Given the description of an element on the screen output the (x, y) to click on. 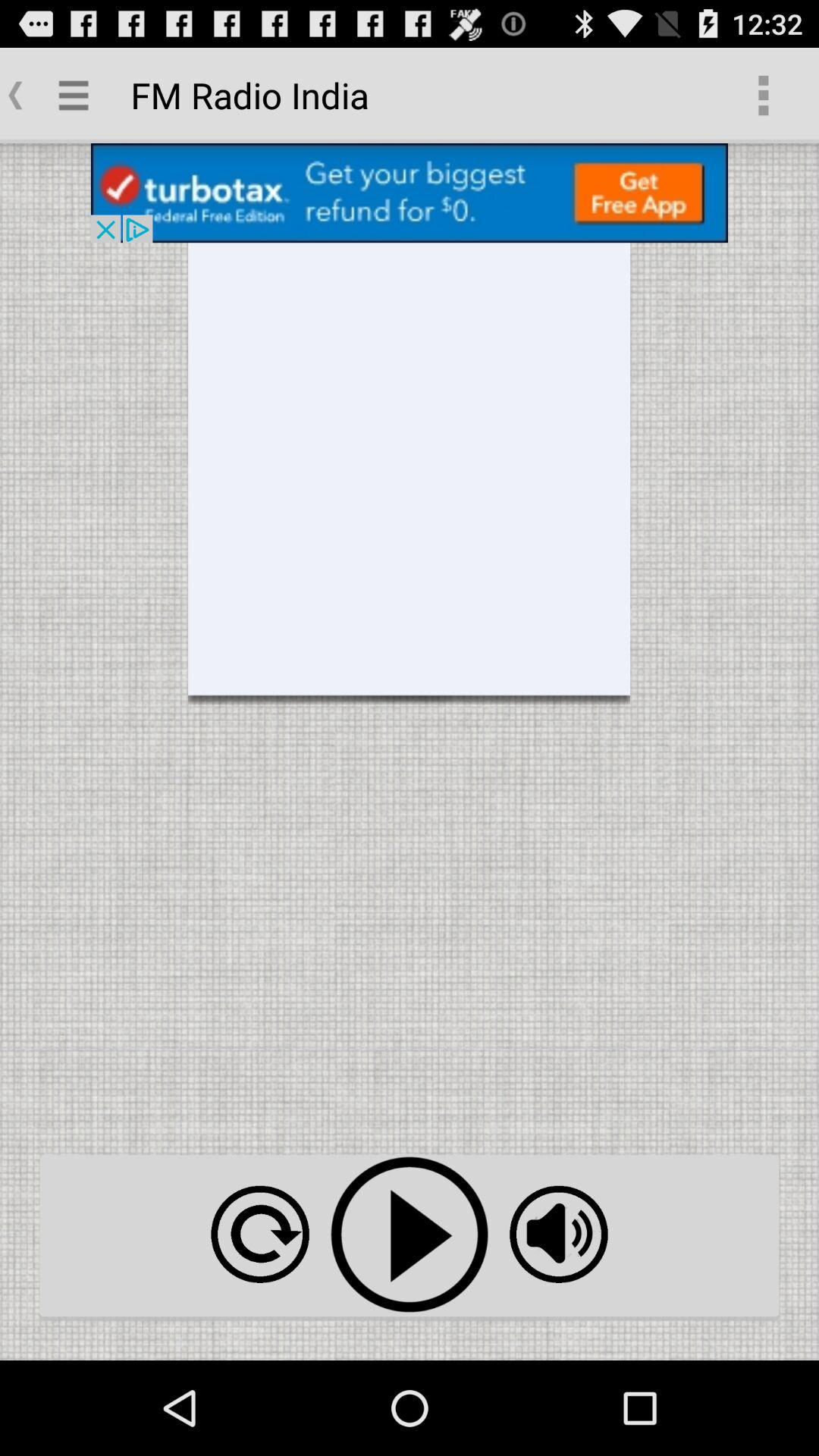
turn on/off sound (558, 1234)
